Given the description of an element on the screen output the (x, y) to click on. 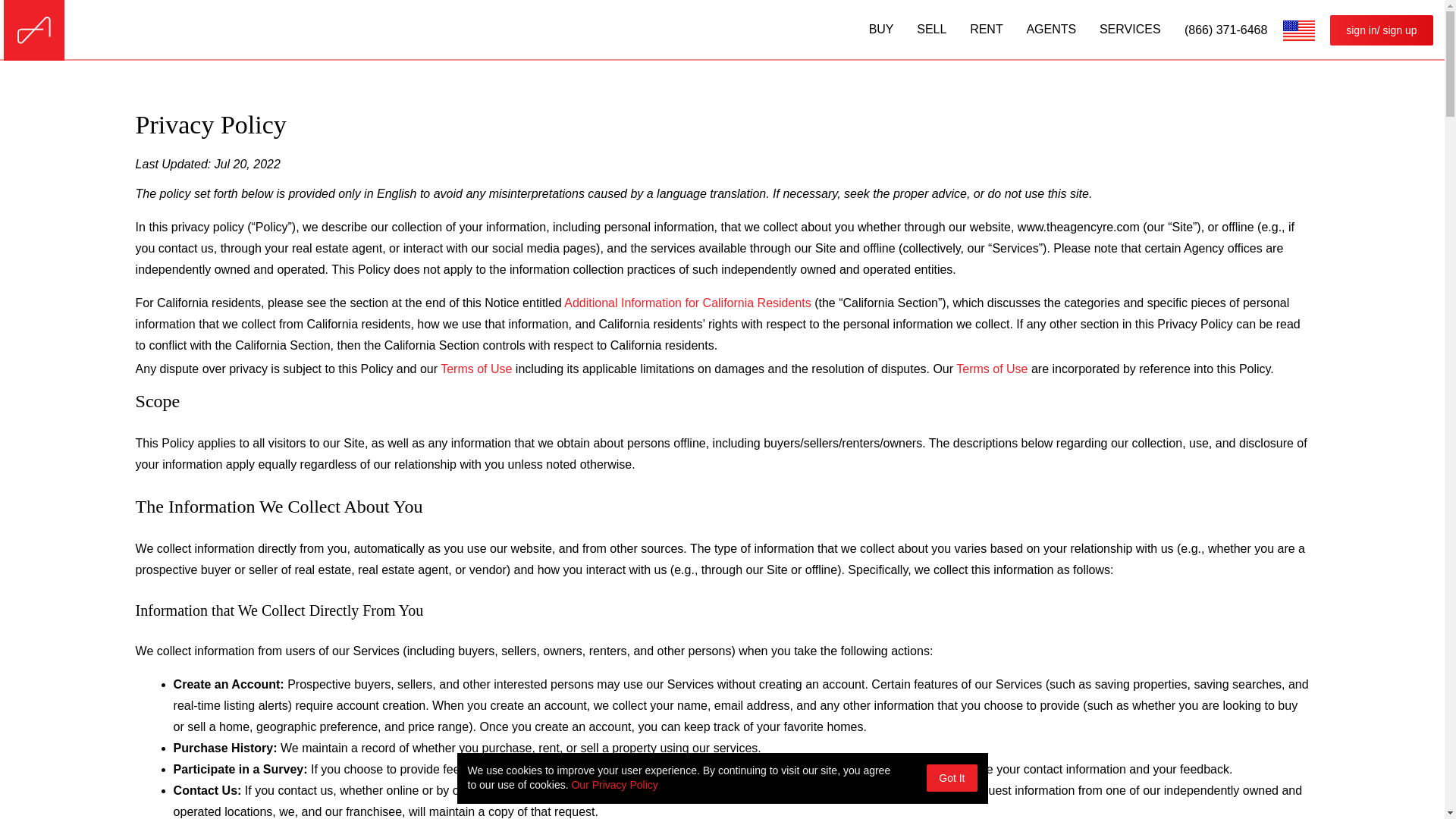
SELL (931, 28)
Home (34, 30)
Additional Information for California Residents (687, 303)
BUY (881, 28)
RENT (986, 28)
Terms of Use (991, 368)
Additional information for California Residents (687, 303)
Terms of Use (476, 368)
Terms of Use (476, 368)
SERVICES (1129, 28)
AGENTS (1050, 28)
Terms of Use (991, 368)
